Given the description of an element on the screen output the (x, y) to click on. 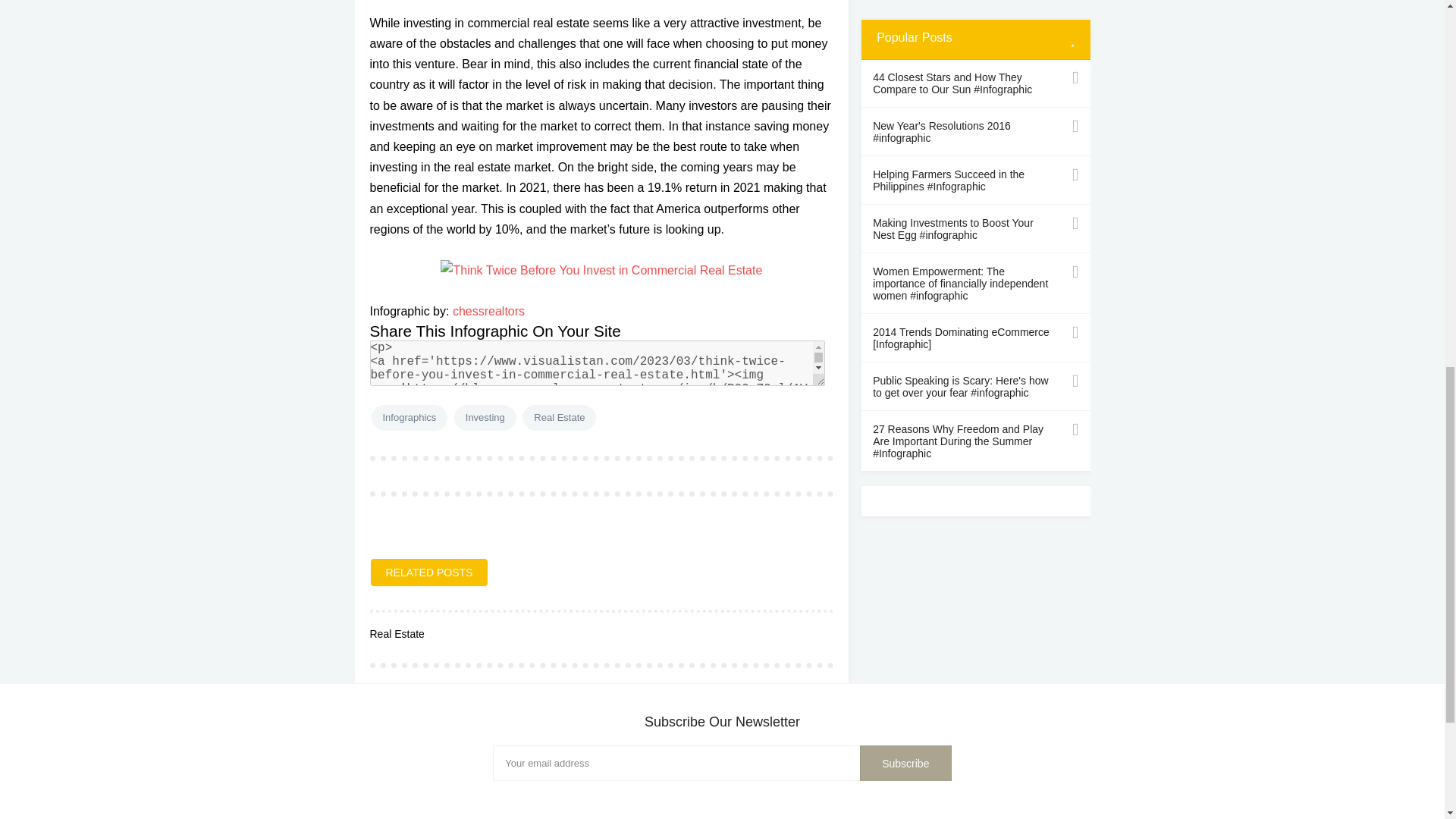
Subscribe (906, 763)
Infographics (409, 417)
Investing (485, 417)
Email (722, 763)
chessrealtors (488, 310)
Real Estate (558, 417)
